Given the description of an element on the screen output the (x, y) to click on. 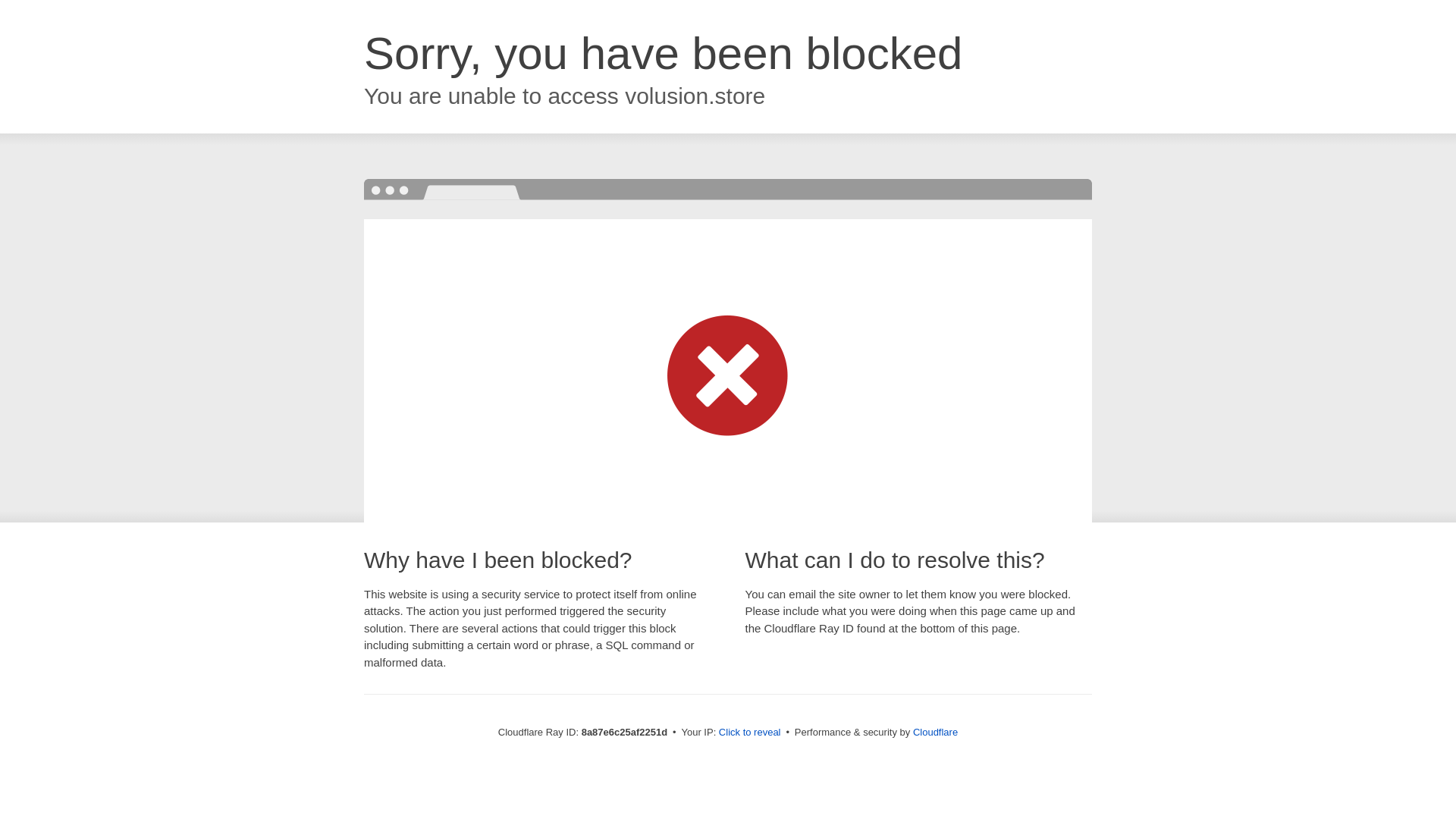
Click to reveal (749, 732)
Cloudflare (935, 731)
